Given the description of an element on the screen output the (x, y) to click on. 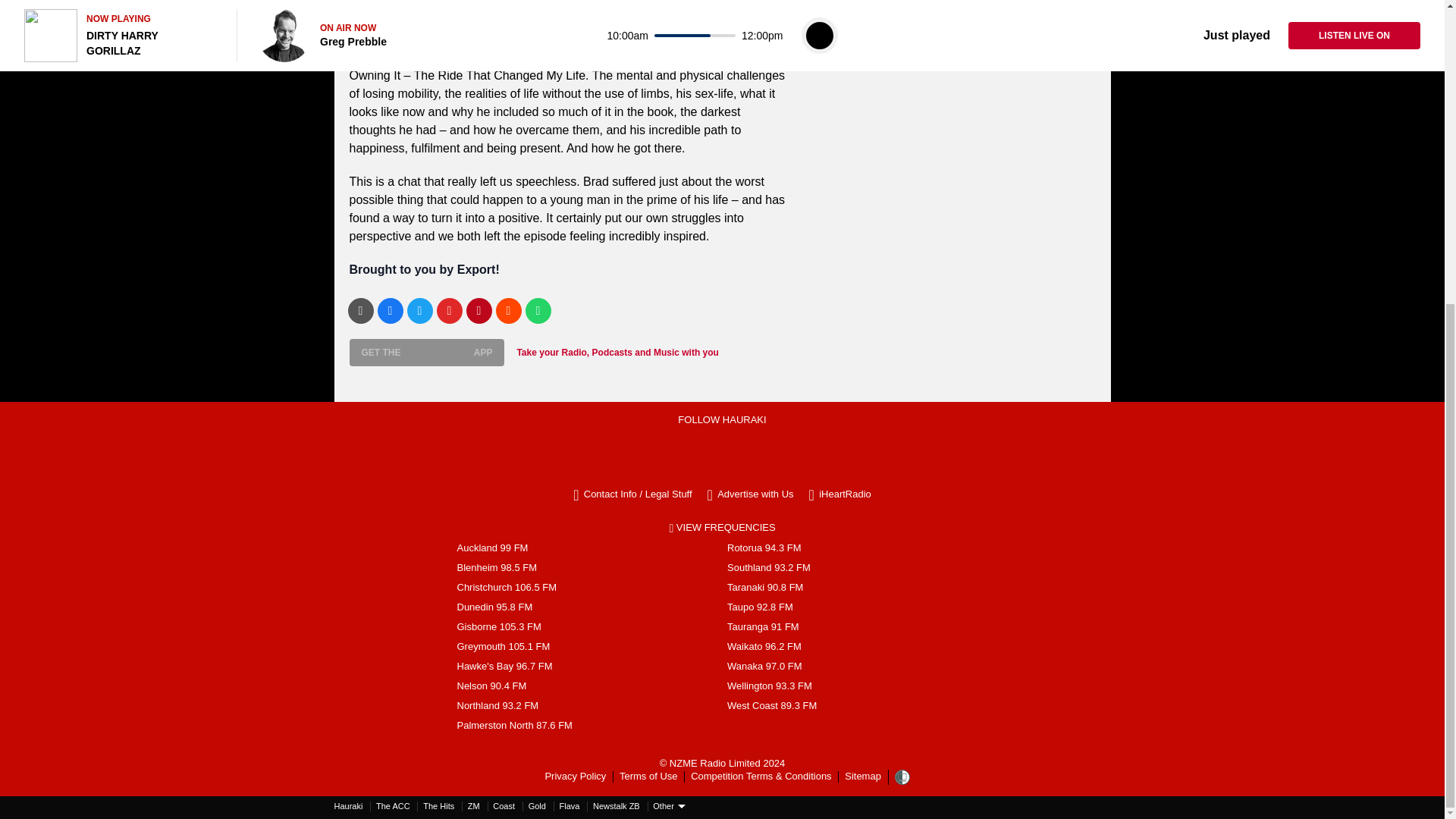
Share with pinterest (478, 310)
Share with facebook (390, 310)
Share with email (359, 310)
Share with flipboard (449, 310)
Share with reddit (508, 310)
Share with twitter (419, 310)
Share with whatsapp (537, 310)
